Given the description of an element on the screen output the (x, y) to click on. 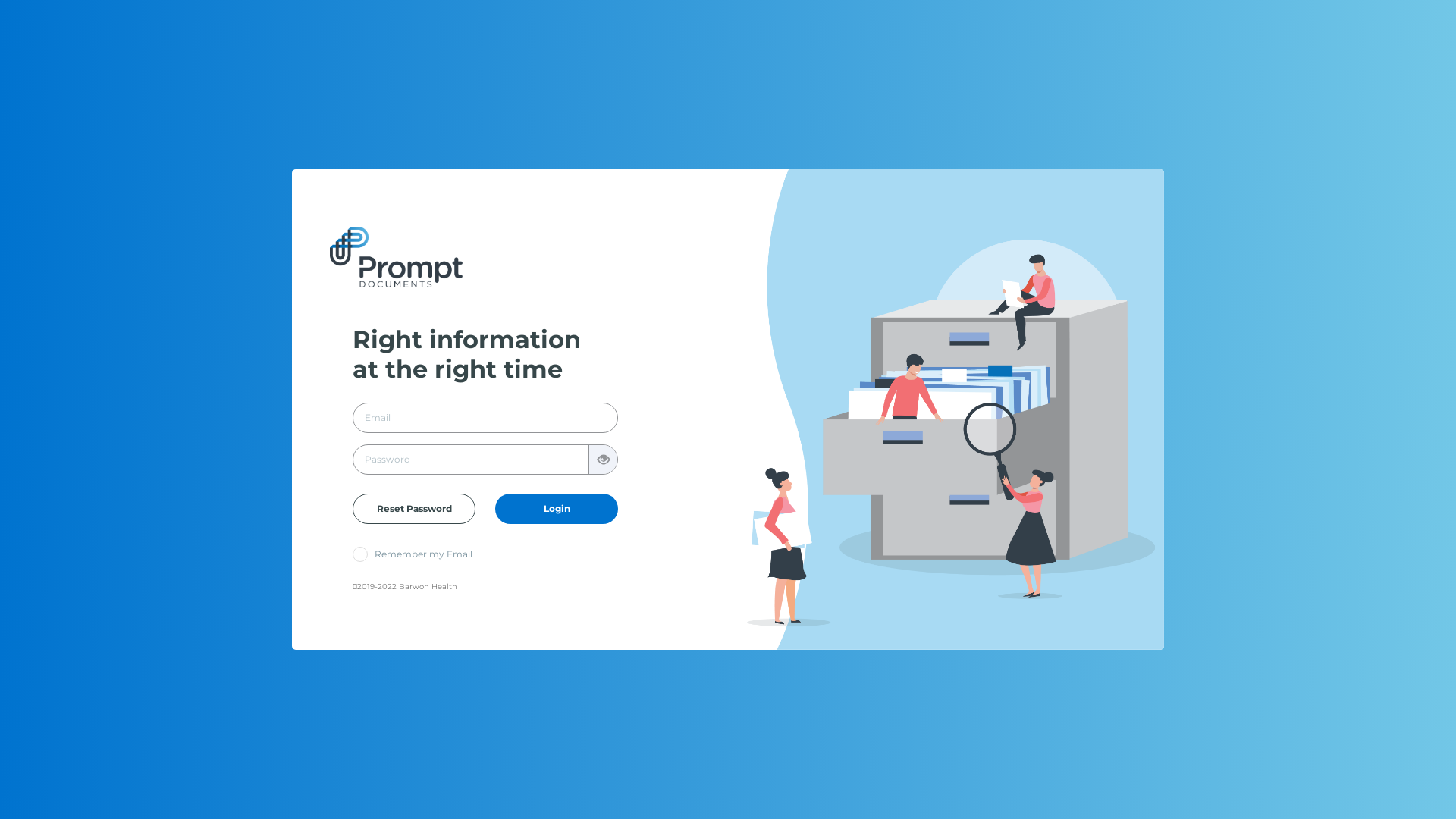
Privacy Element type: text (1241, 786)
